Given the description of an element on the screen output the (x, y) to click on. 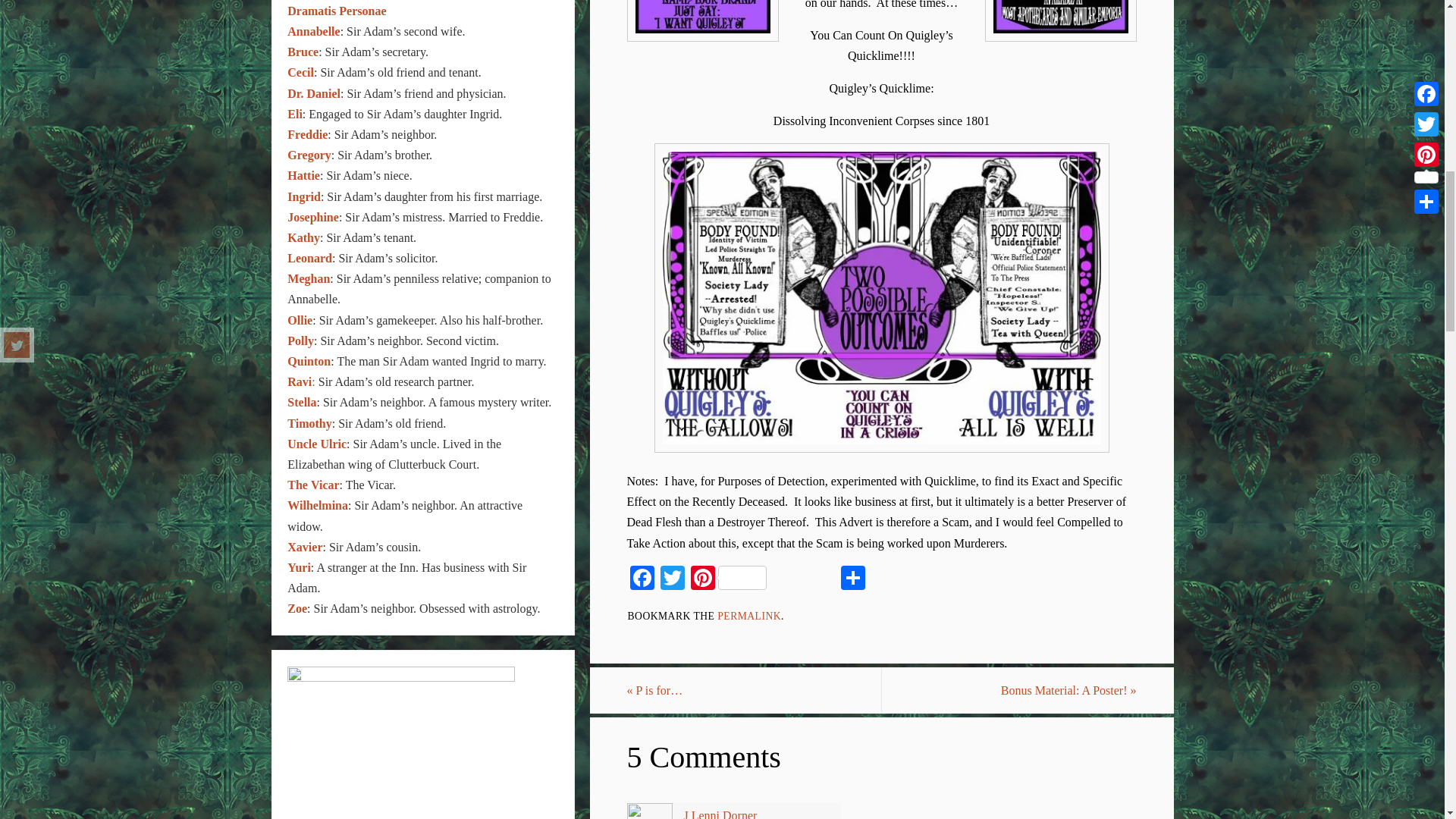
Twitter (671, 579)
Facebook (641, 579)
Pinterest (727, 579)
PERMALINK (748, 615)
Twitter (671, 579)
Pinterest (727, 579)
J Lenni Dorner (720, 814)
Share (852, 579)
Facebook (641, 579)
